Given the description of an element on the screen output the (x, y) to click on. 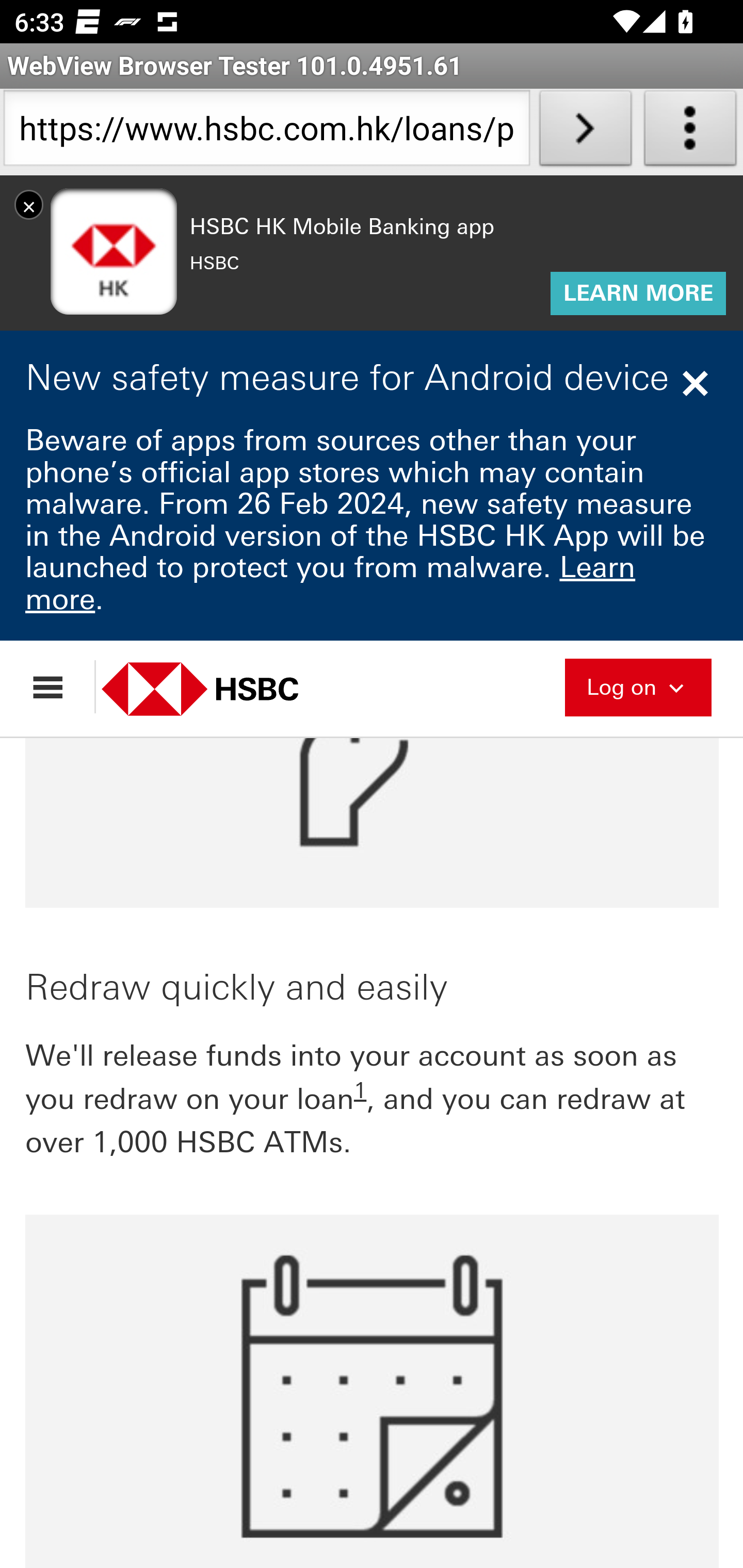
Load URL (585, 132)
About WebView (690, 132)
X (29, 204)
LEARN MORE (638, 293)
LEARN MORE (638, 293)
Apply now (372, 343)
Close (697, 382)
Learn more (331, 582)
Log on Collapsed (638, 685)
Open menu (57, 686)
HSBC Hong Kong Bank (221, 688)
